Given the description of an element on the screen output the (x, y) to click on. 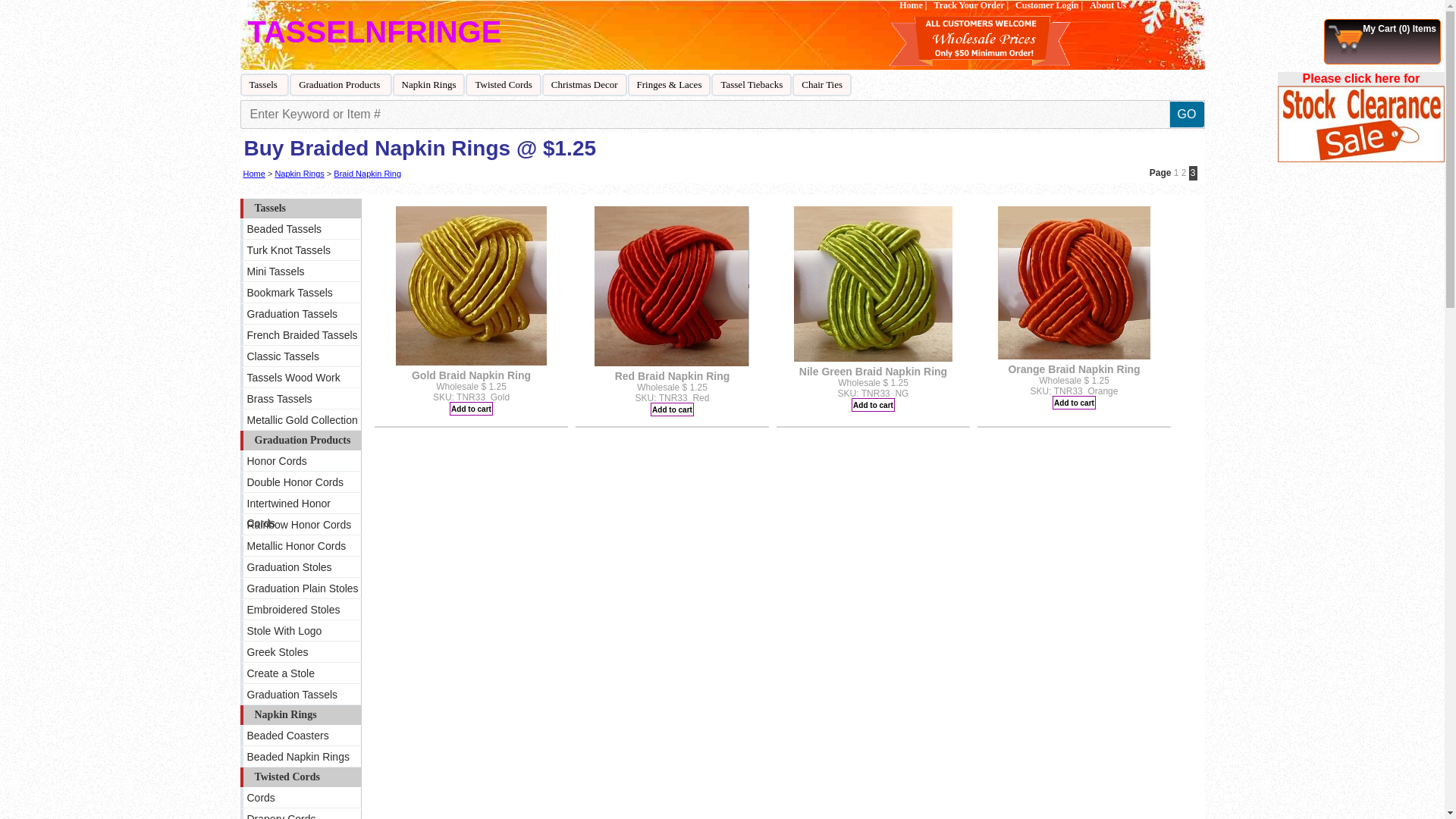
Tassels  (264, 84)
About Us (1107, 6)
TASSELNFRINGE (373, 31)
Napkin Rings (429, 84)
Graduation Products  (340, 84)
Twisted Cords (502, 84)
